Given the description of an element on the screen output the (x, y) to click on. 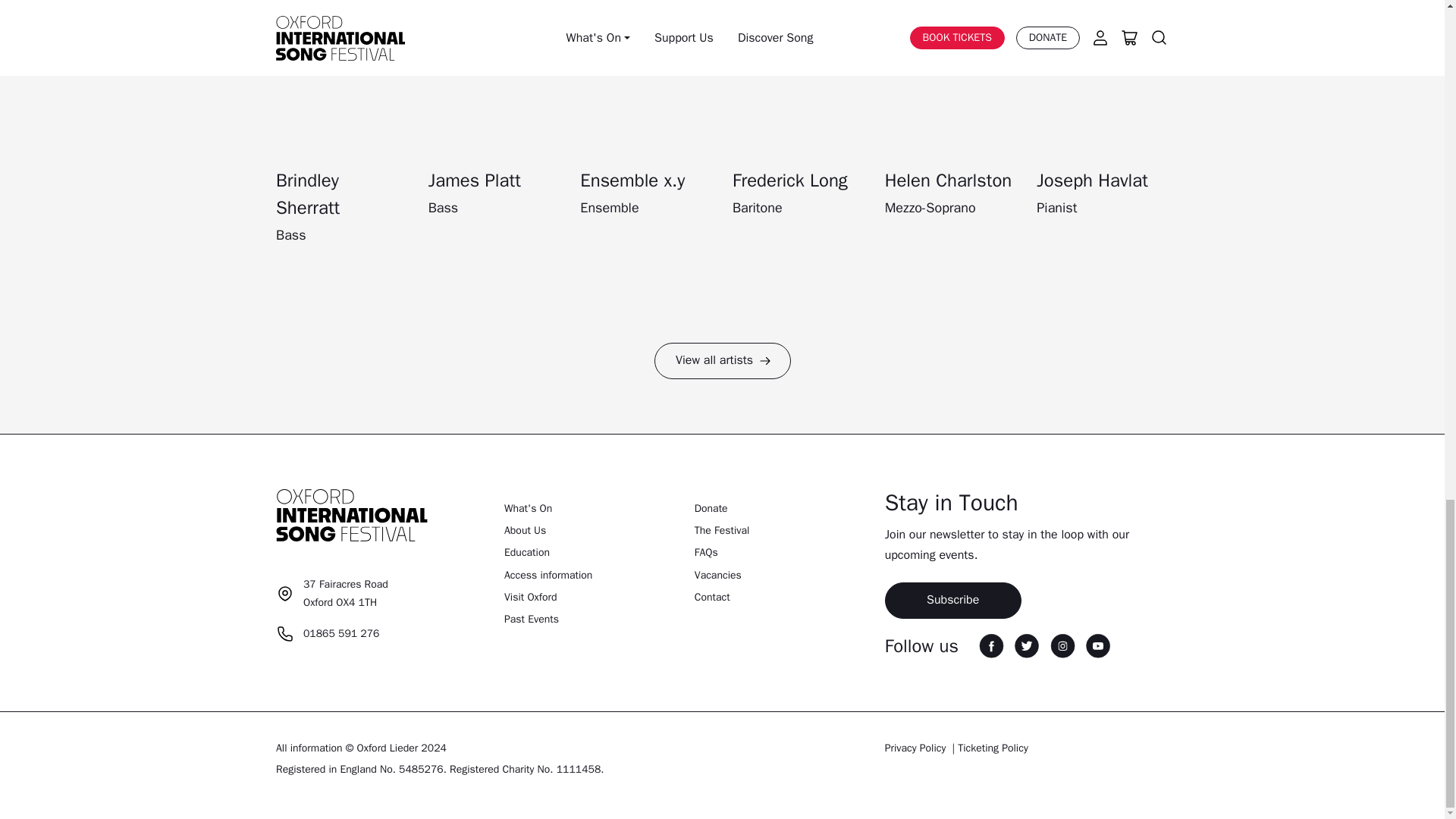
Find us on YouTube (1097, 645)
Find us on Facebook (721, 18)
What's On (991, 645)
Call Us (527, 508)
Account (328, 633)
View all artists (332, 599)
01865 591 276 (703, 21)
Find us on Twitter (721, 361)
